Given the description of an element on the screen output the (x, y) to click on. 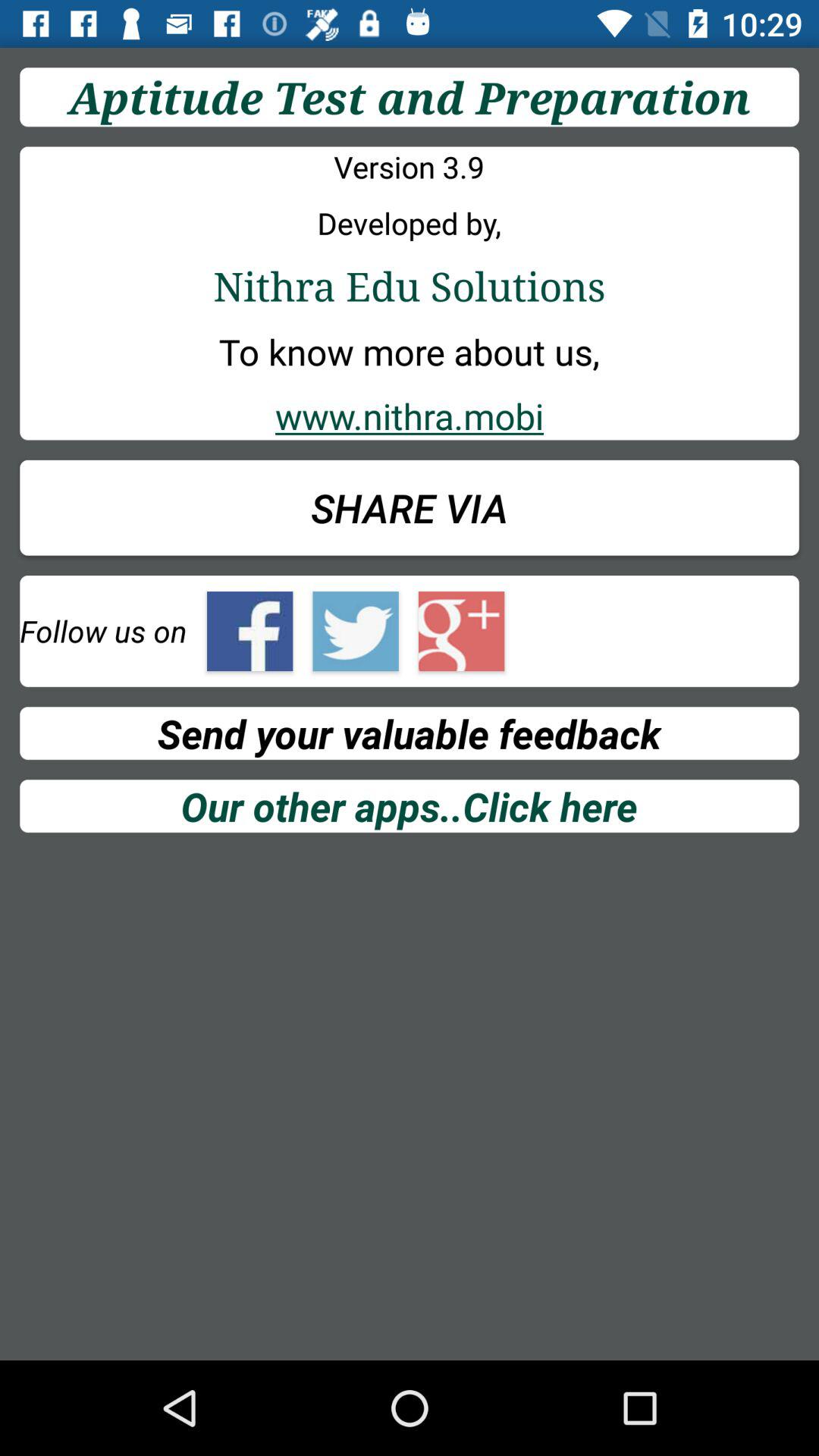
follow on twitter (355, 631)
